Given the description of an element on the screen output the (x, y) to click on. 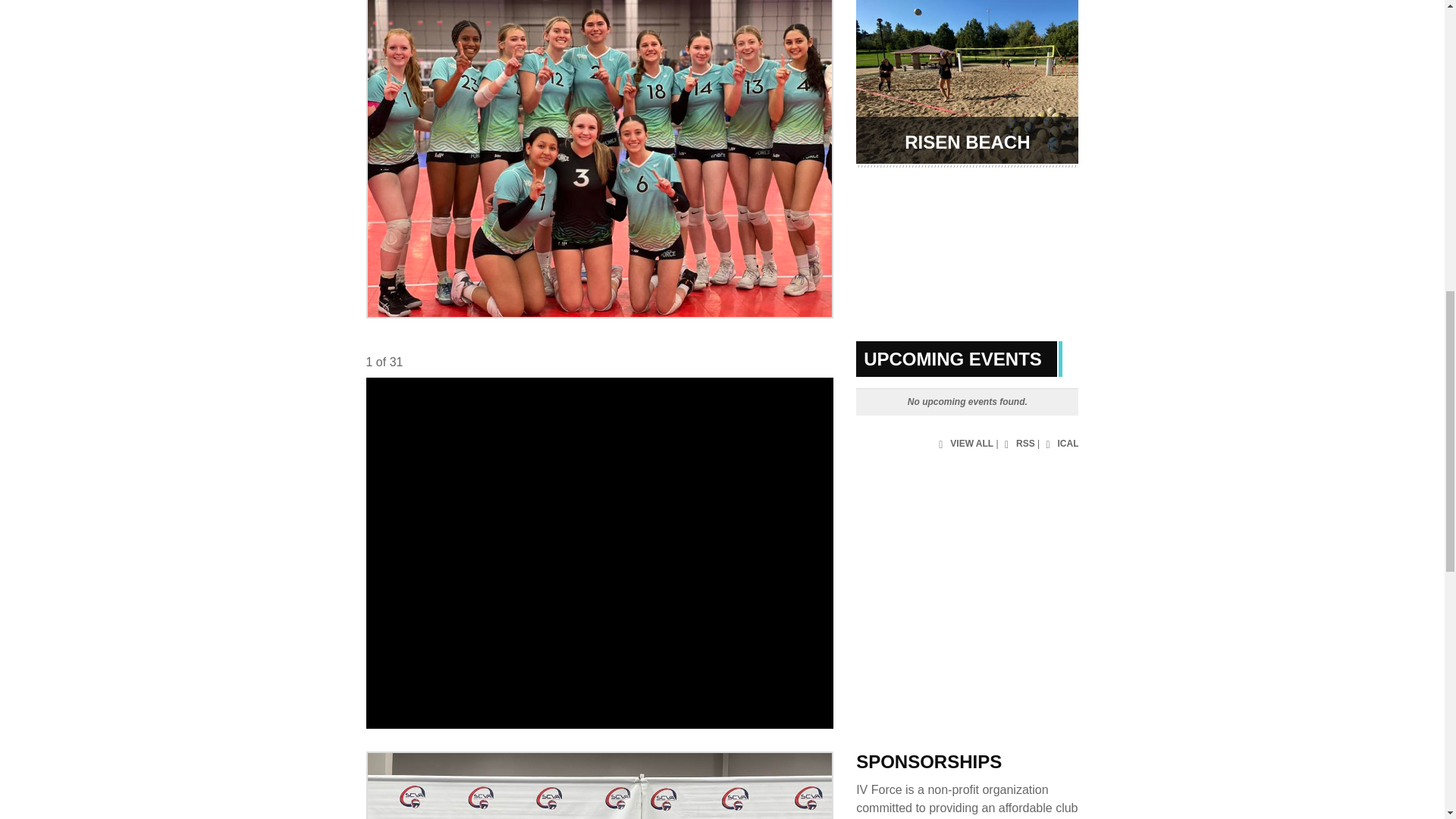
Subscribe to iCalendar Feed (1060, 444)
Subscribe to RSS Feed (1018, 444)
View All (963, 444)
